Given the description of an element on the screen output the (x, y) to click on. 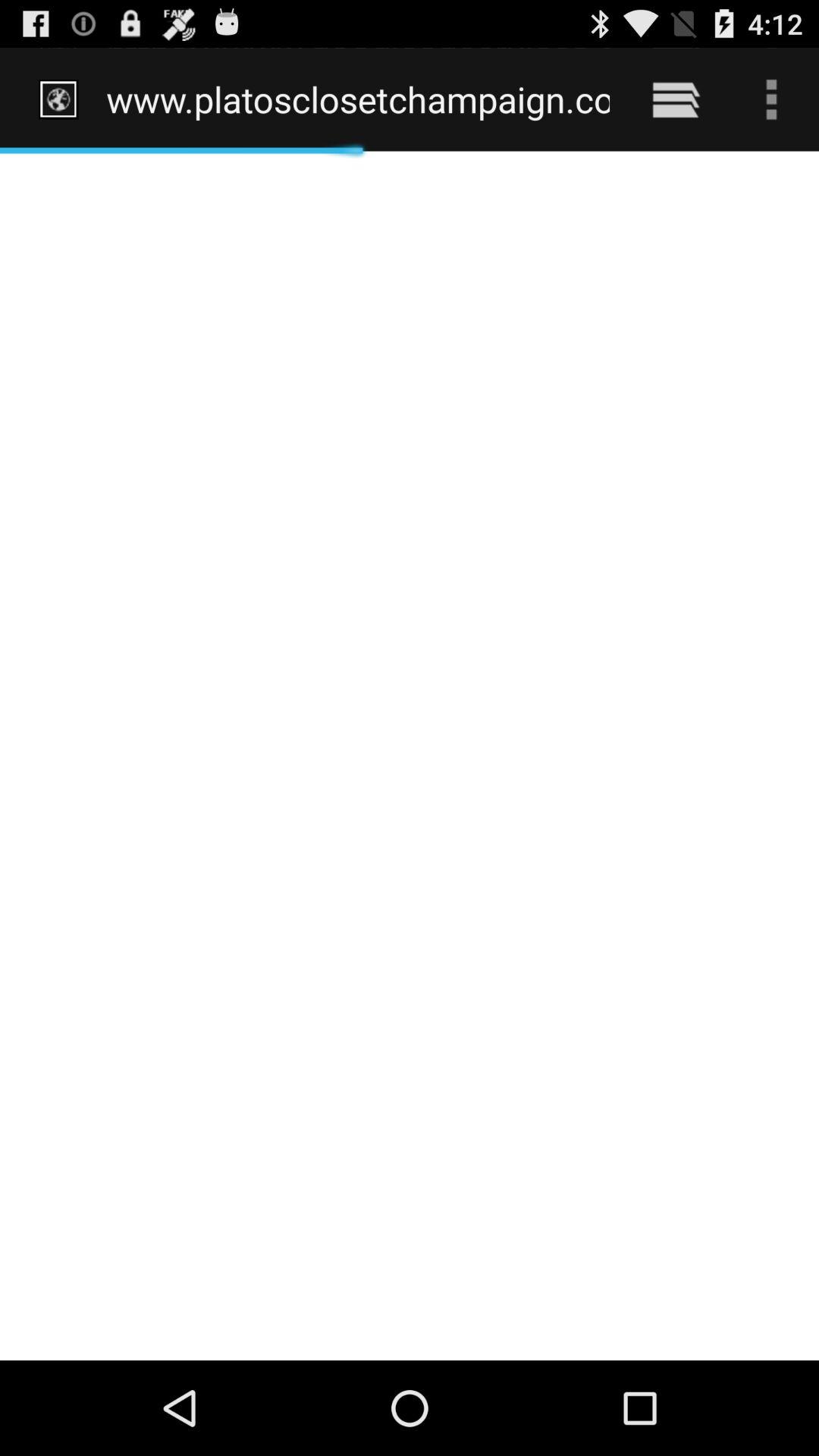
press the icon to the right of the www.platosclosetchampaign.com item (675, 99)
